Given the description of an element on the screen output the (x, y) to click on. 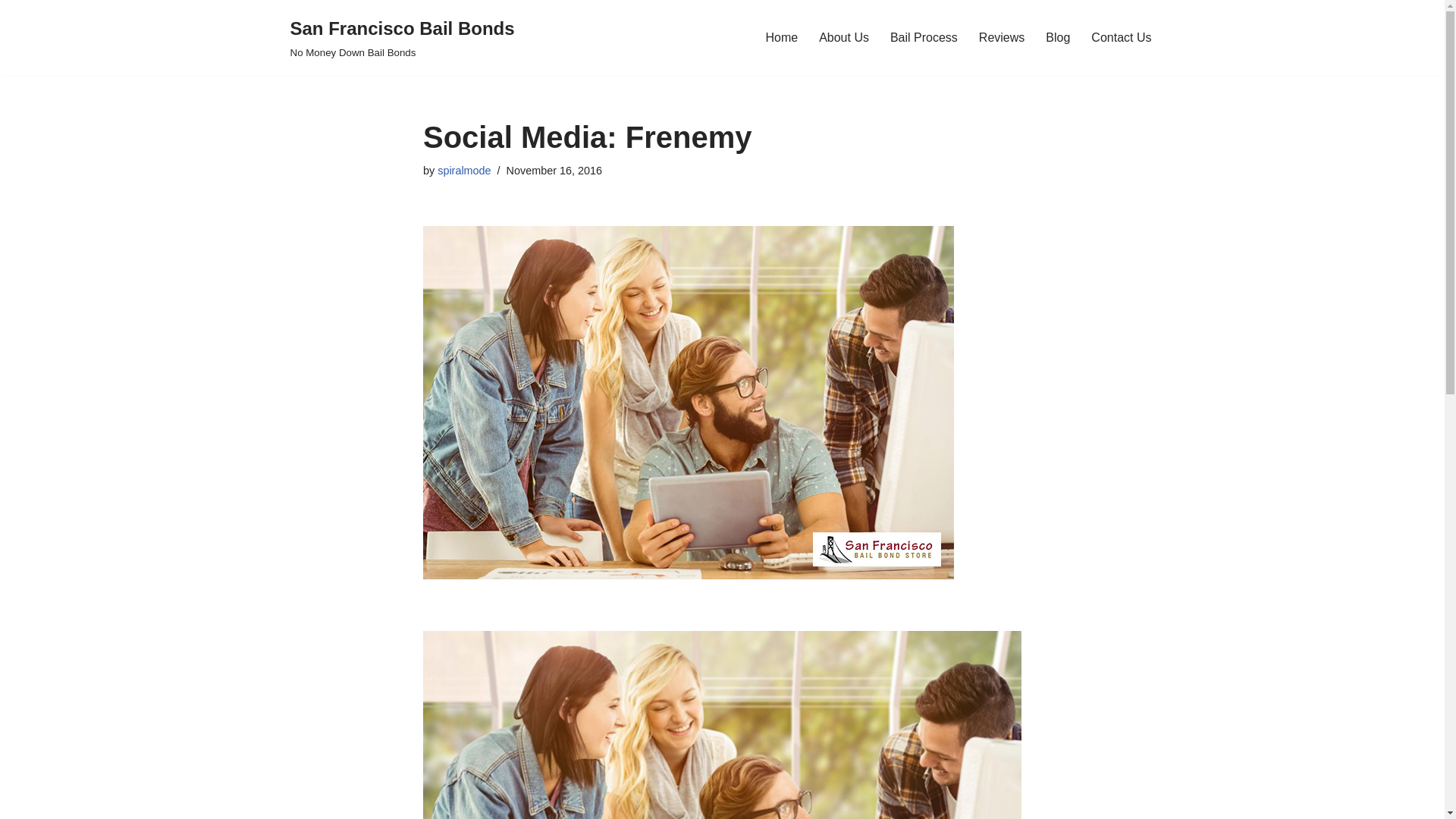
Blog (1057, 37)
Contact Us (1120, 37)
Bail Process (923, 37)
Skip to content (11, 31)
spiralmode (464, 170)
Reviews (401, 37)
About Us (1001, 37)
Posts by spiralmode (843, 37)
Home (464, 170)
